Given the description of an element on the screen output the (x, y) to click on. 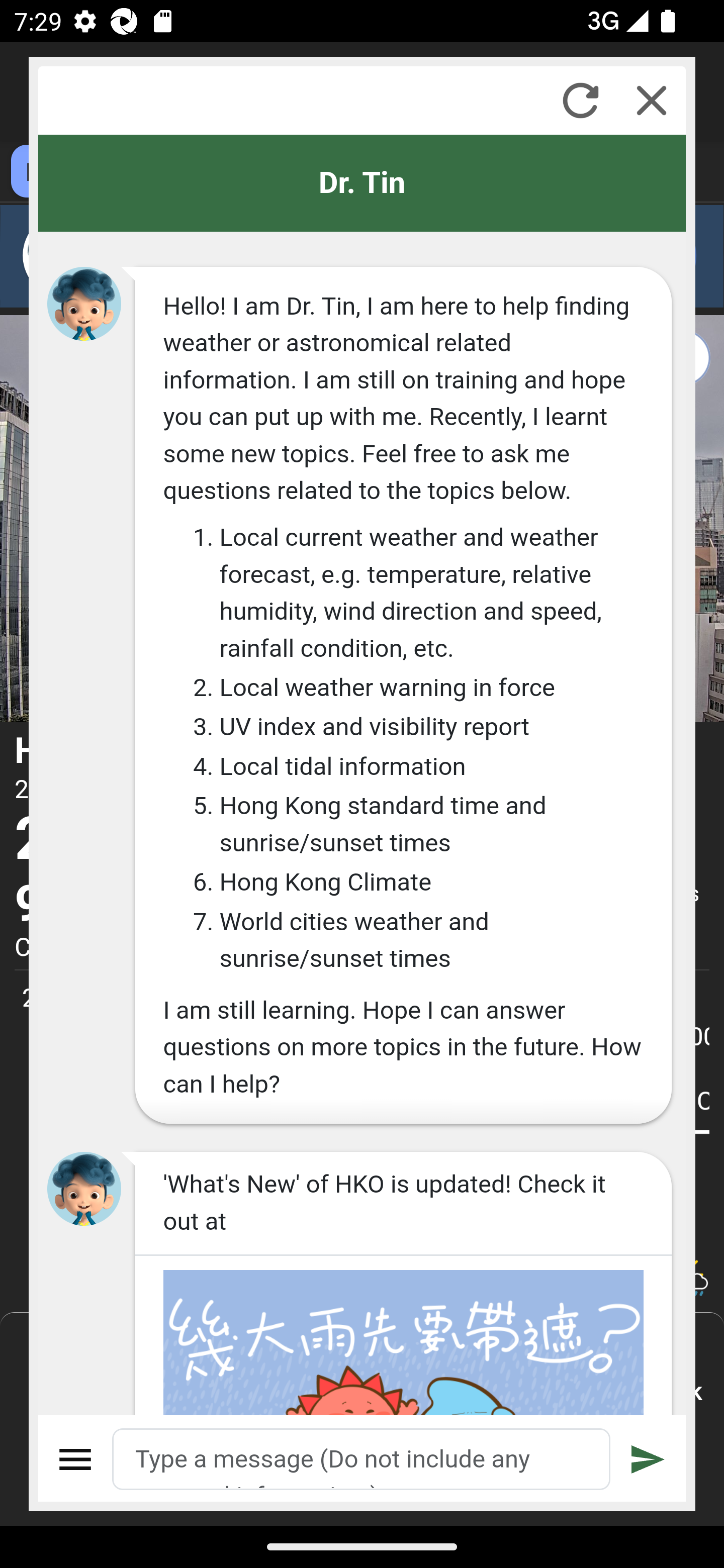
Refresh (580, 100)
Close (651, 100)
Menu (75, 1458)
Submit (648, 1458)
